Given the description of an element on the screen output the (x, y) to click on. 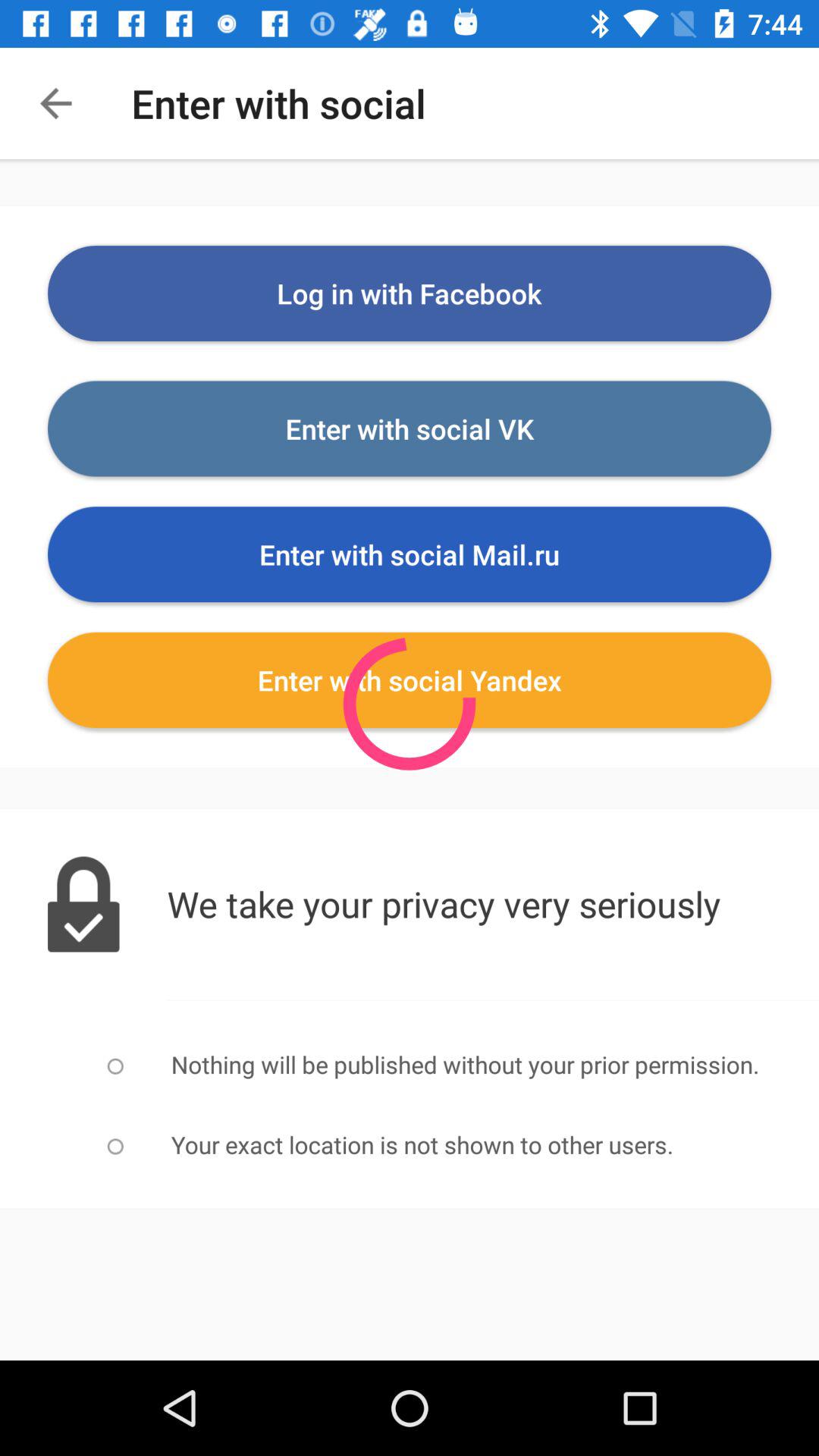
click the item at the top left corner (55, 103)
